Given the description of an element on the screen output the (x, y) to click on. 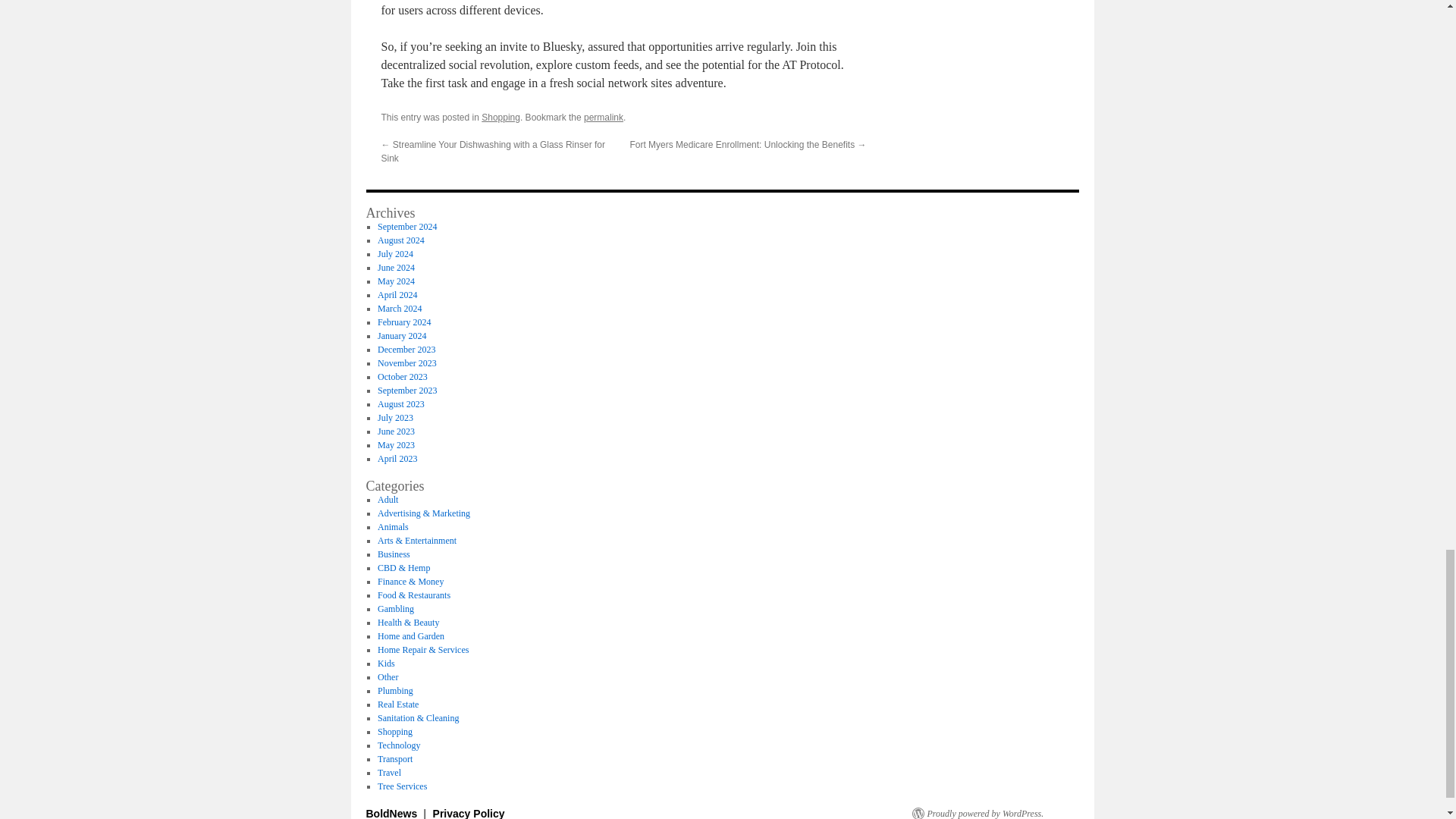
July 2023 (395, 417)
September 2023 (406, 389)
January 2024 (401, 335)
October 2023 (402, 376)
May 2023 (395, 444)
June 2024 (395, 267)
February 2024 (403, 321)
April 2024 (396, 294)
May 2024 (395, 281)
November 2023 (406, 362)
